Given the description of an element on the screen output the (x, y) to click on. 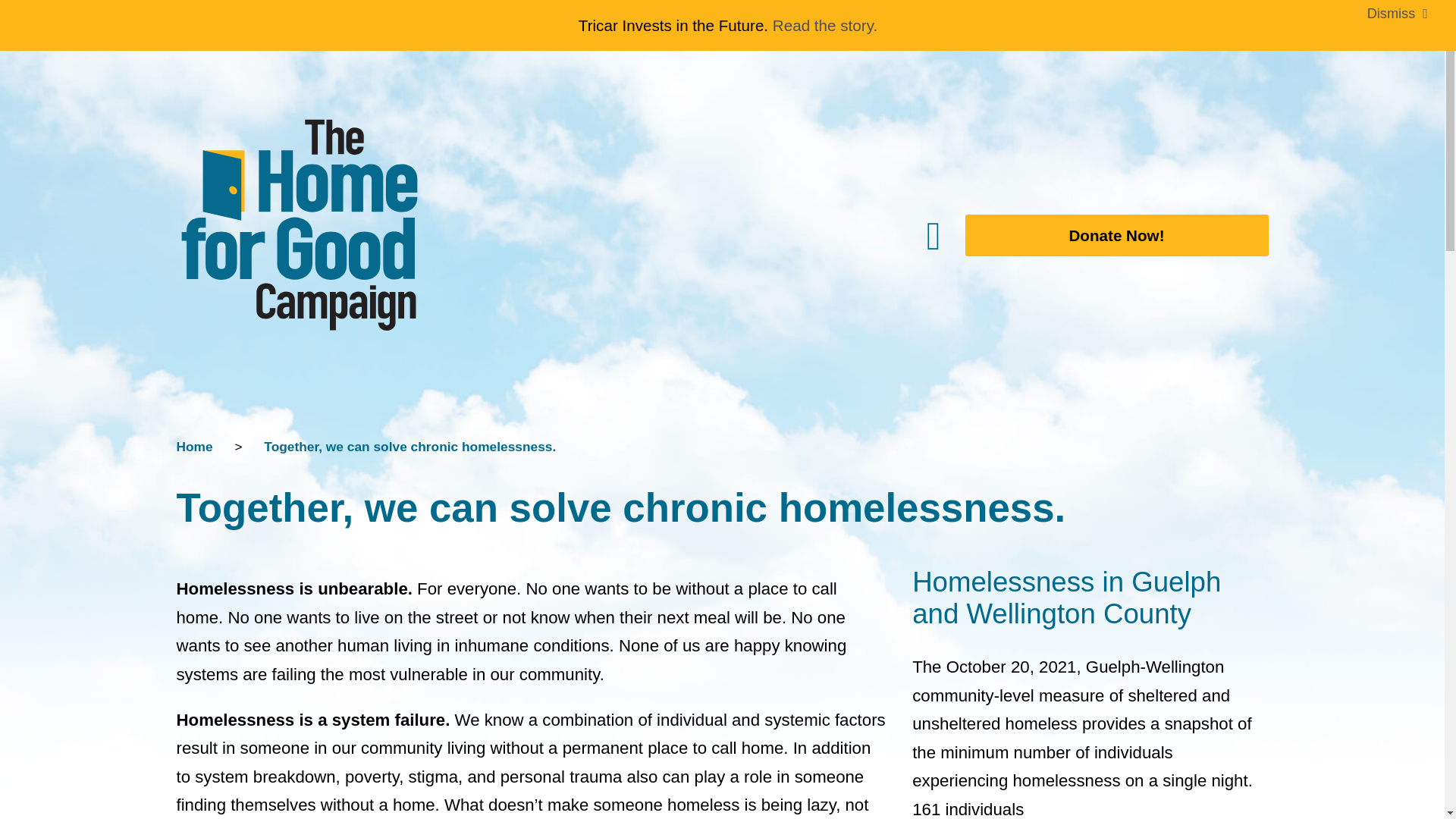
Donate Now! (1104, 235)
Dismiss    (1399, 13)
Home (194, 446)
Menu (776, 235)
Home (194, 446)
Read the story. (825, 25)
